Given the description of an element on the screen output the (x, y) to click on. 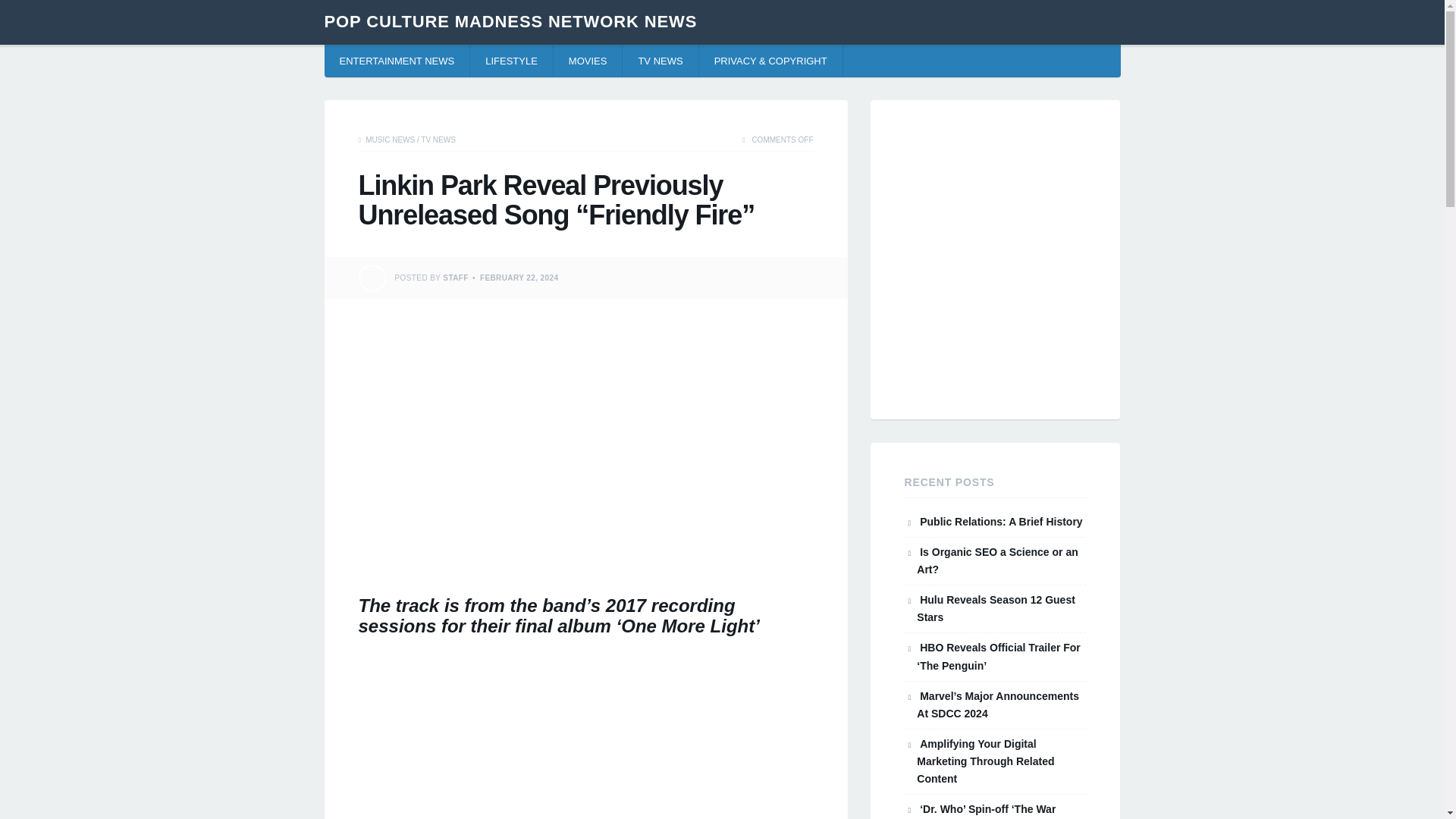
MOVIES (588, 60)
LIFESTYLE (511, 60)
STAFF (454, 277)
MUSIC NEWS (389, 139)
View all posts by Staff (454, 277)
Public Relations: A Brief History (1000, 521)
Hulu Reveals Season 12 Guest Stars (996, 608)
FEBRUARY 22, 2024 (519, 277)
Amplifying Your Digital Marketing Through Related Content (985, 760)
TV NEWS (437, 139)
TV NEWS (660, 60)
POP CULTURE MADNESS NETWORK NEWS (510, 21)
ENTERTAINMENT NEWS (397, 60)
Is Organic SEO a Science or an Art? (997, 560)
